Given the description of an element on the screen output the (x, y) to click on. 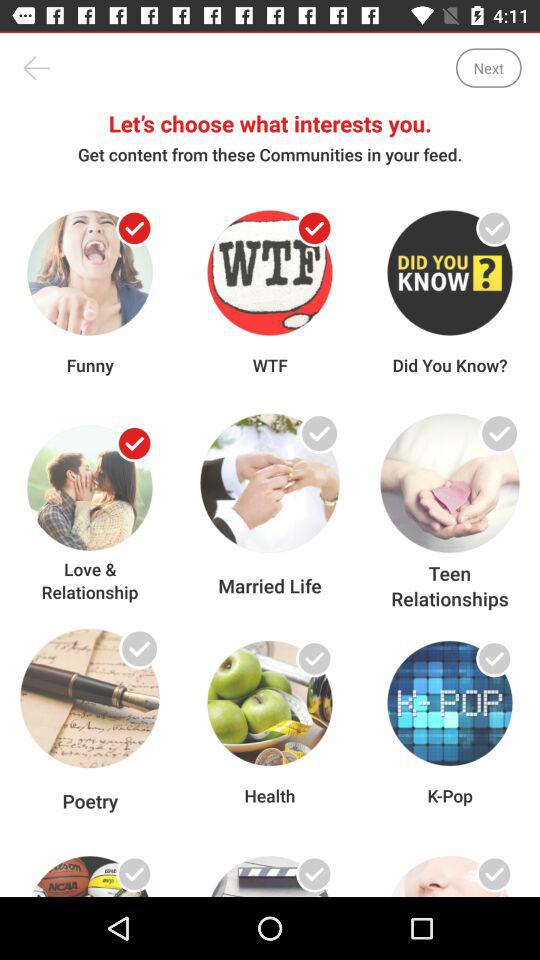
select icon (494, 658)
